Given the description of an element on the screen output the (x, y) to click on. 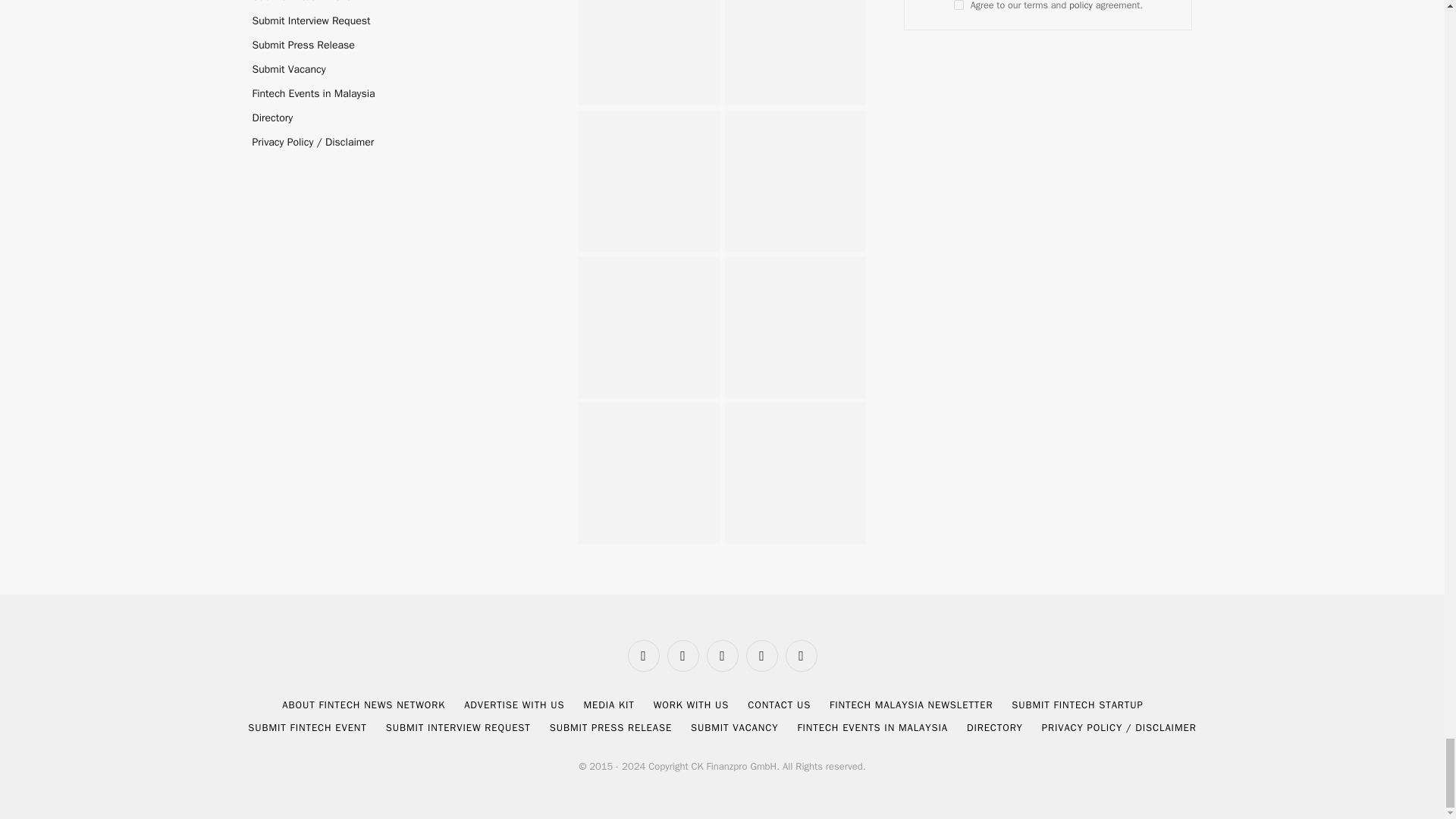
on (958, 4)
